Given the description of an element on the screen output the (x, y) to click on. 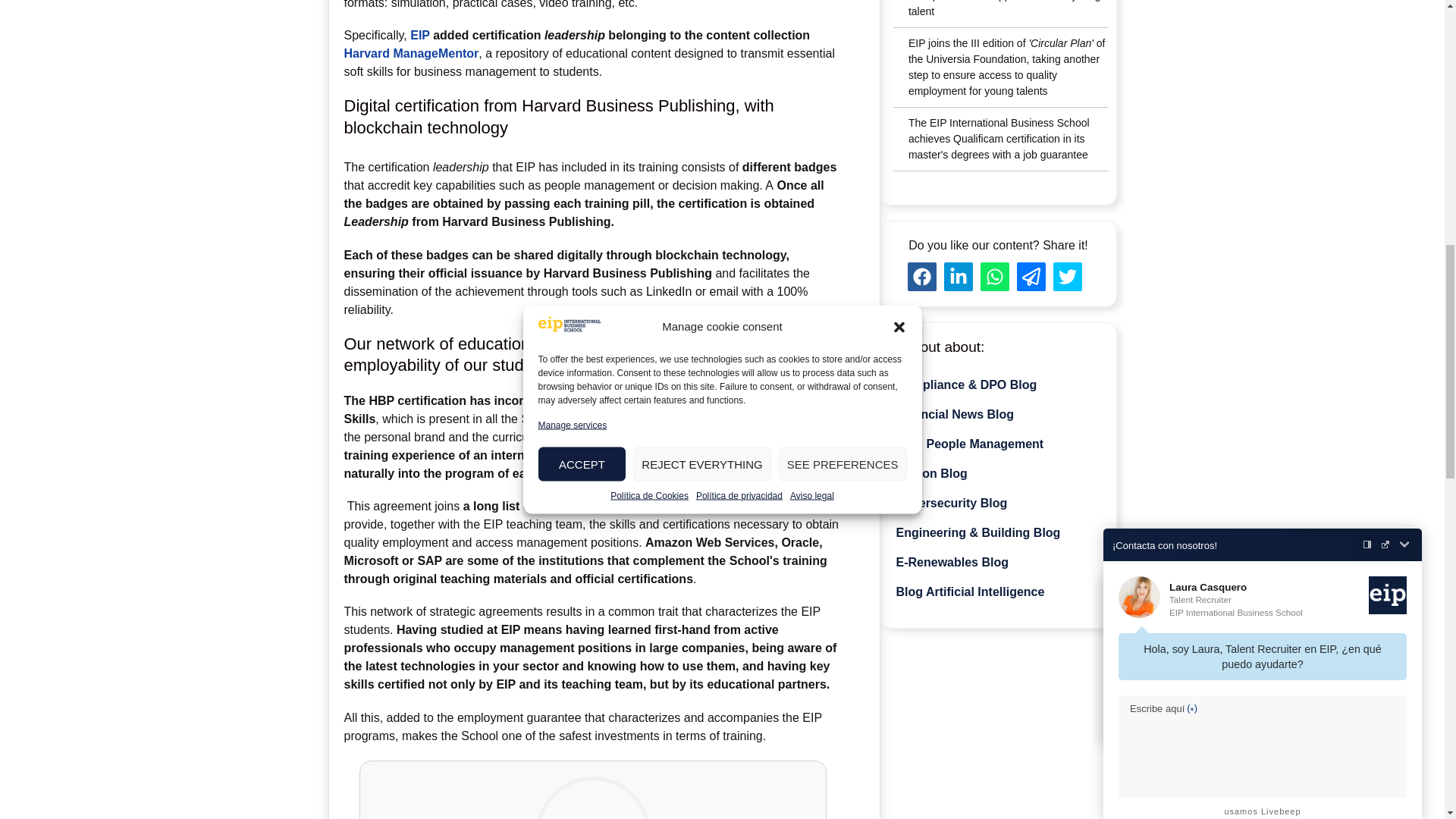
Scroll back to top (1389, 680)
